Given the description of an element on the screen output the (x, y) to click on. 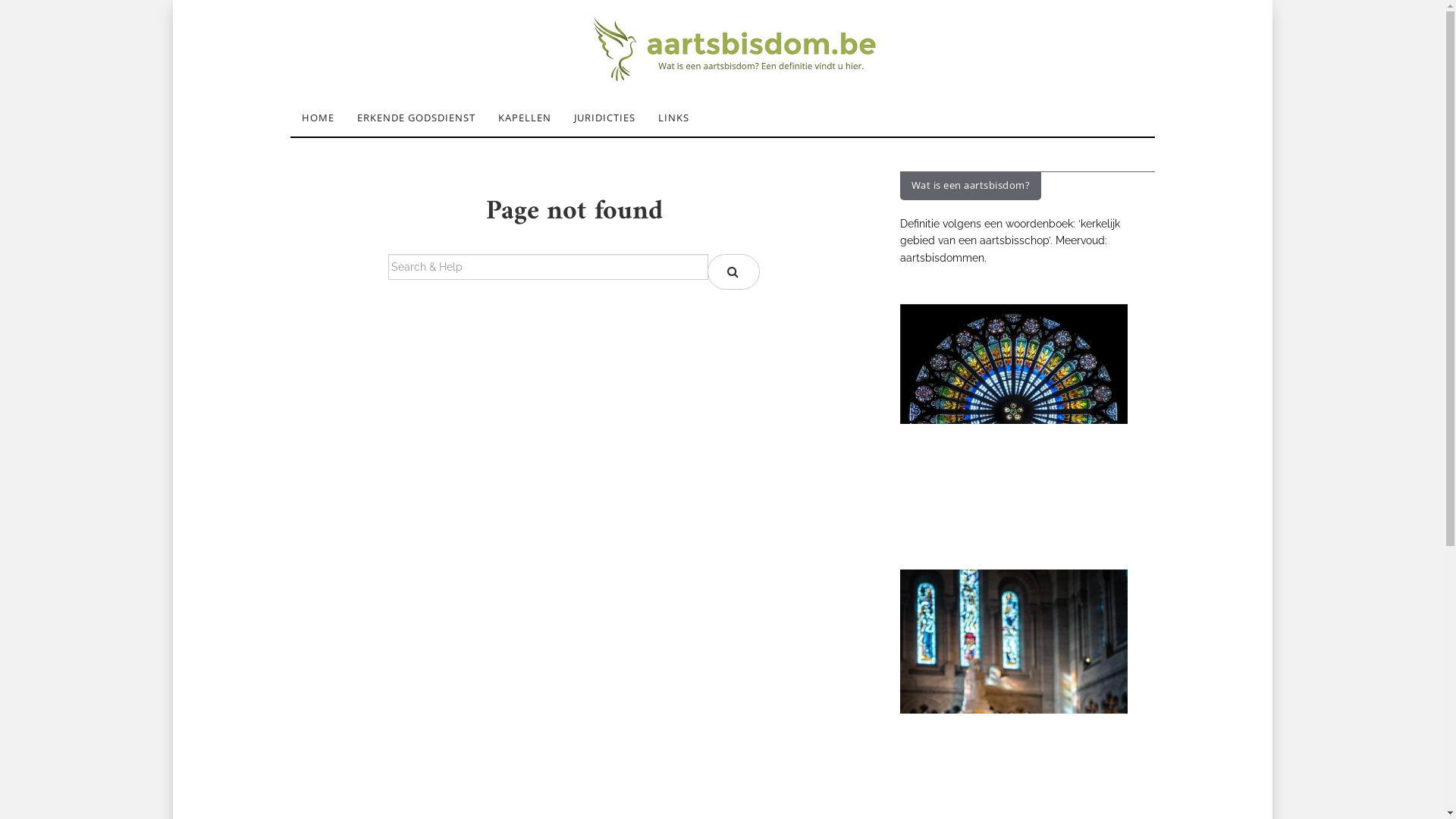
LINKS Element type: text (672, 117)
ERKENDE GODSDIENST Element type: text (415, 117)
HOME Element type: text (317, 117)
KAPELLEN Element type: text (524, 117)
Search Element type: text (733, 271)
JURIDICTIES Element type: text (604, 117)
Search for: Element type: hover (548, 266)
